Given the description of an element on the screen output the (x, y) to click on. 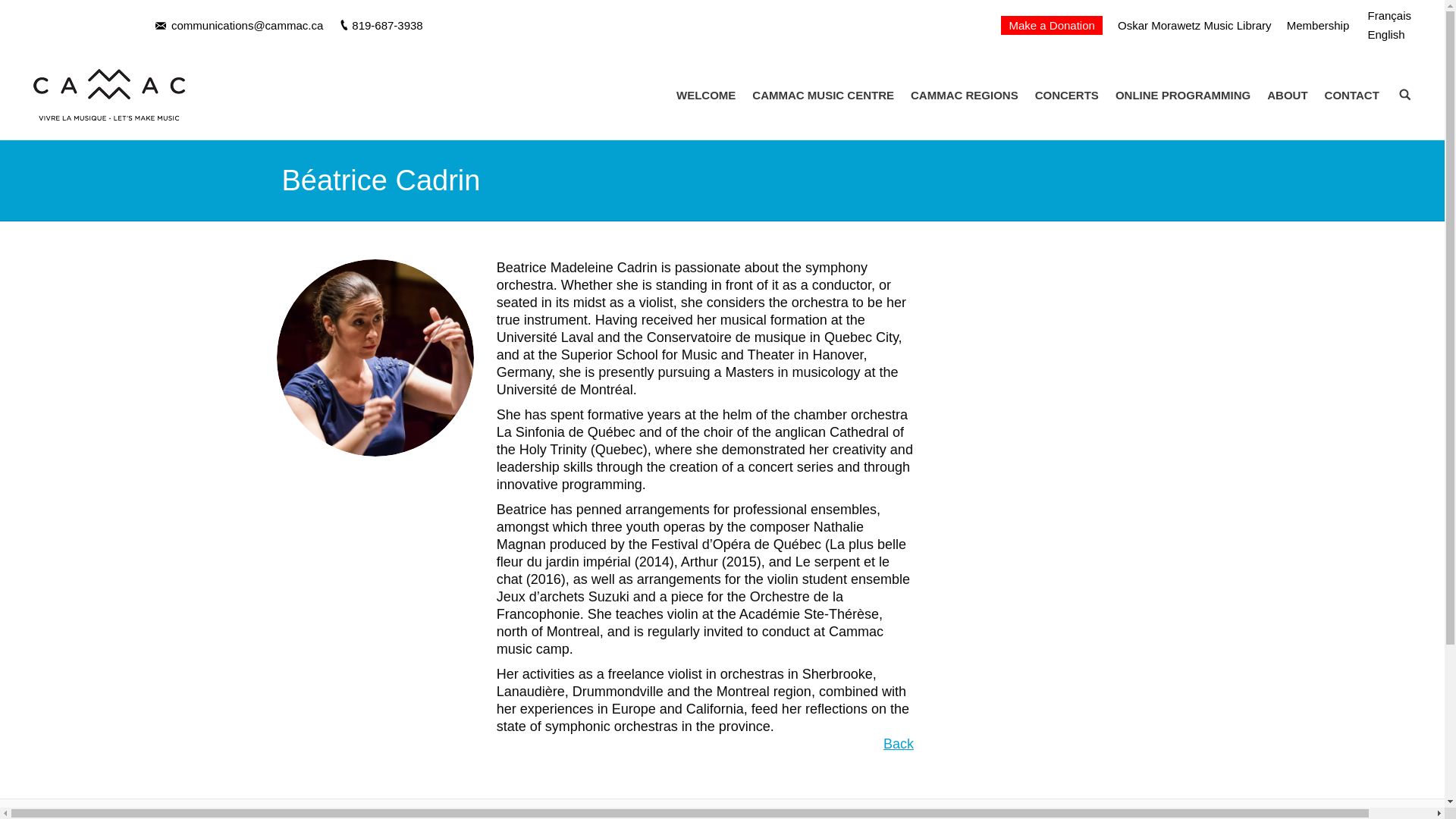
English (1386, 33)
CAMMAC MUSIC CENTRE (823, 95)
Membership (1318, 24)
CAMMAC REGIONS (964, 95)
Make a Donation (1051, 25)
Oskar Morawetz Music Library (1194, 24)
WELCOME (705, 95)
